Given the description of an element on the screen output the (x, y) to click on. 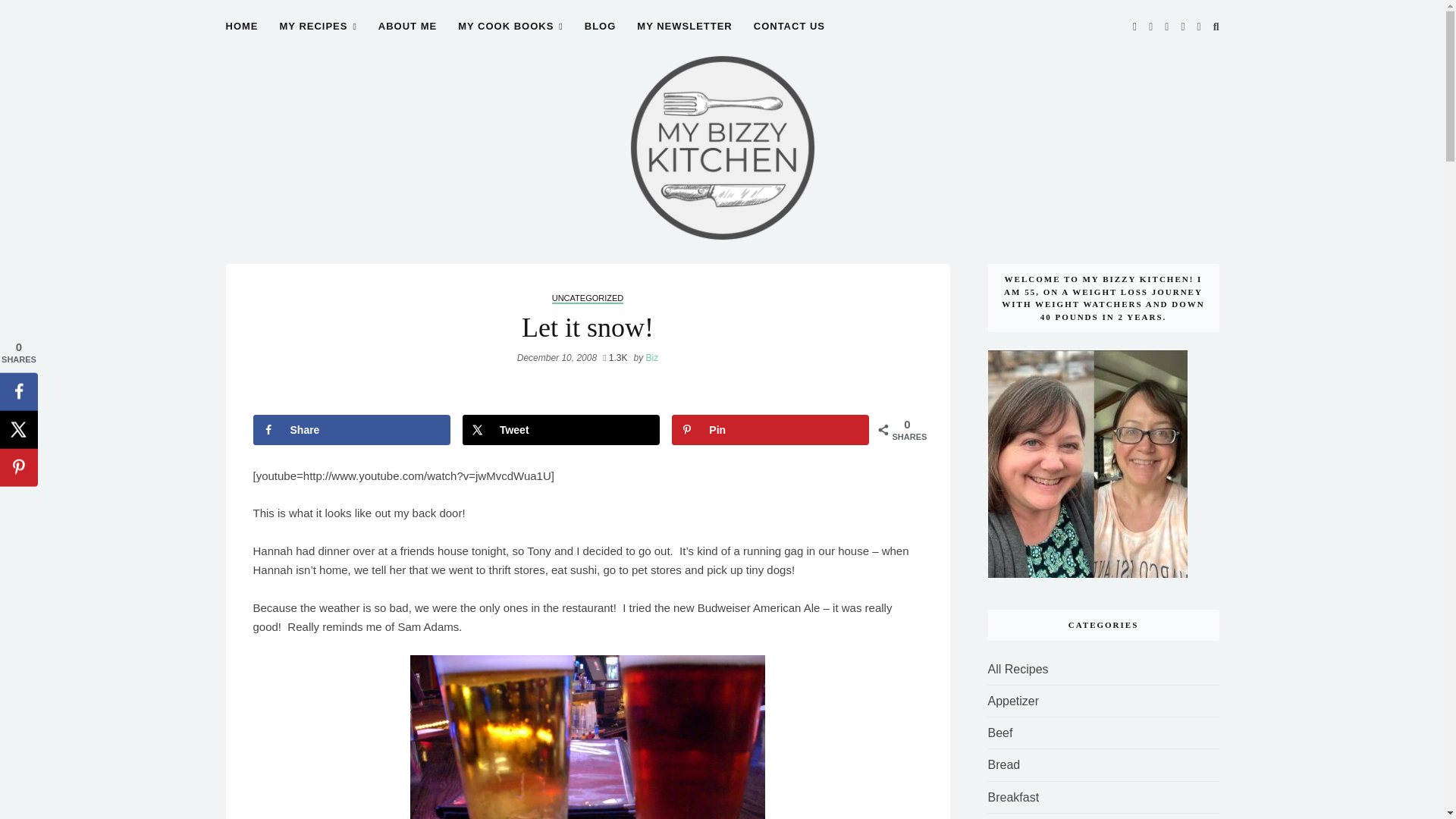
MY RECIPES (317, 35)
dscn3531-640x480 (587, 737)
HOME (242, 35)
Save to Pinterest (770, 429)
Share on Facebook (351, 429)
Share on X (561, 429)
